Given the description of an element on the screen output the (x, y) to click on. 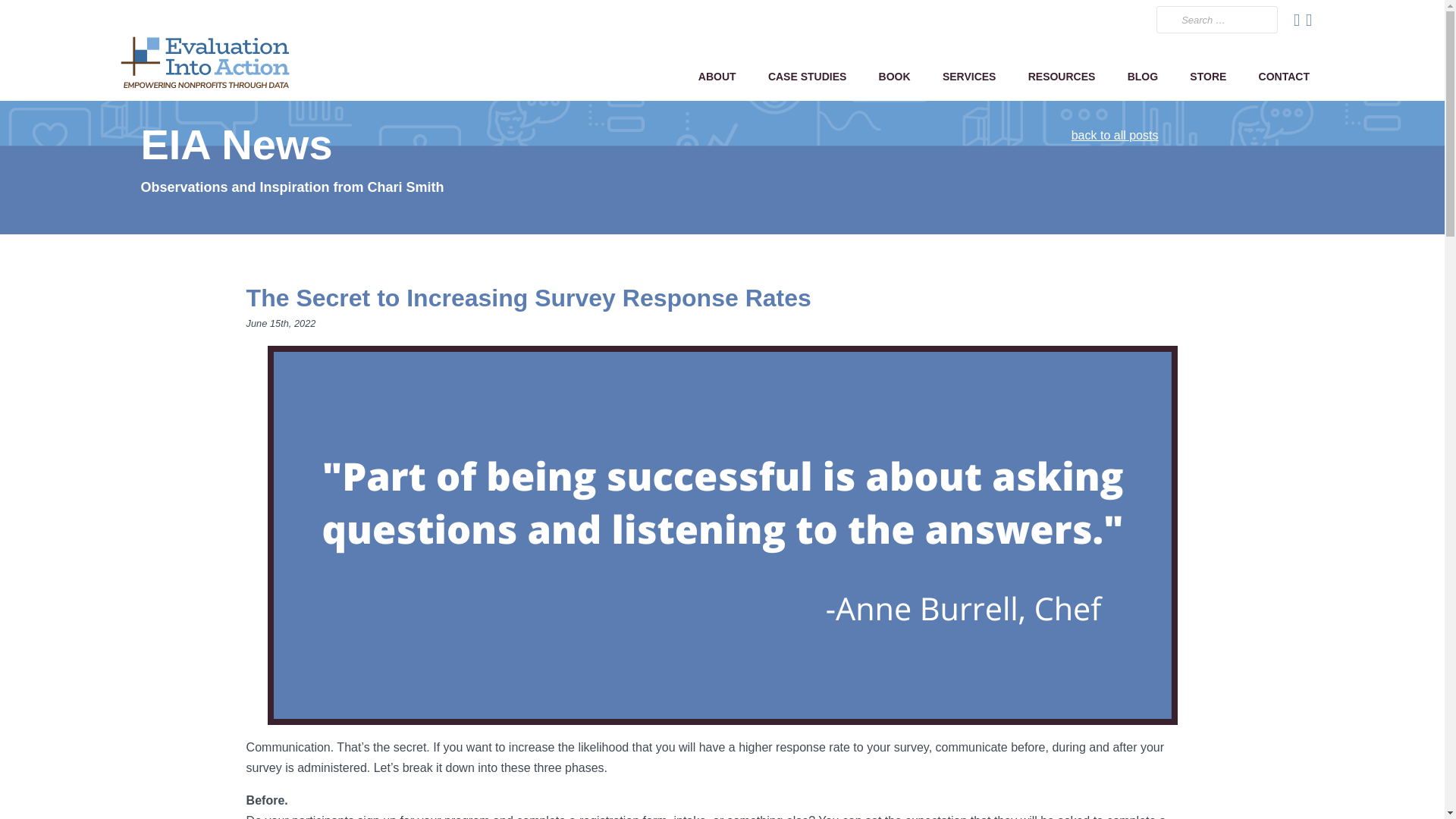
SERVICES (969, 76)
CONTACT (1283, 76)
BLOG (1142, 76)
RESOURCES (1061, 76)
back to all posts (1114, 134)
BOOK (893, 76)
ABOUT (717, 76)
STORE (1207, 76)
CASE STUDIES (807, 76)
EIA News (235, 144)
